Given the description of an element on the screen output the (x, y) to click on. 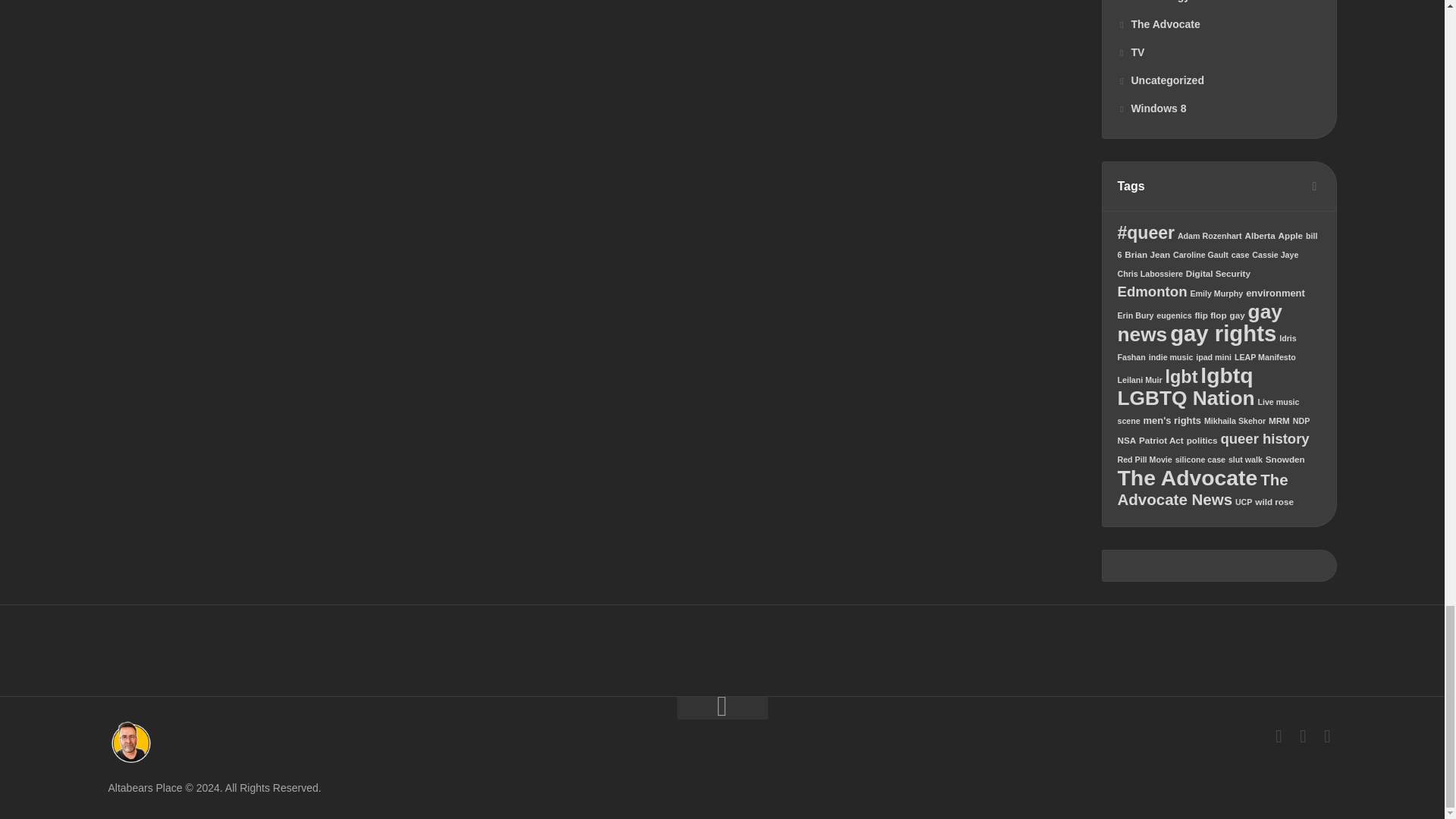
Facebook (1278, 736)
Twitter (1302, 736)
Instagram (1326, 736)
